Given the description of an element on the screen output the (x, y) to click on. 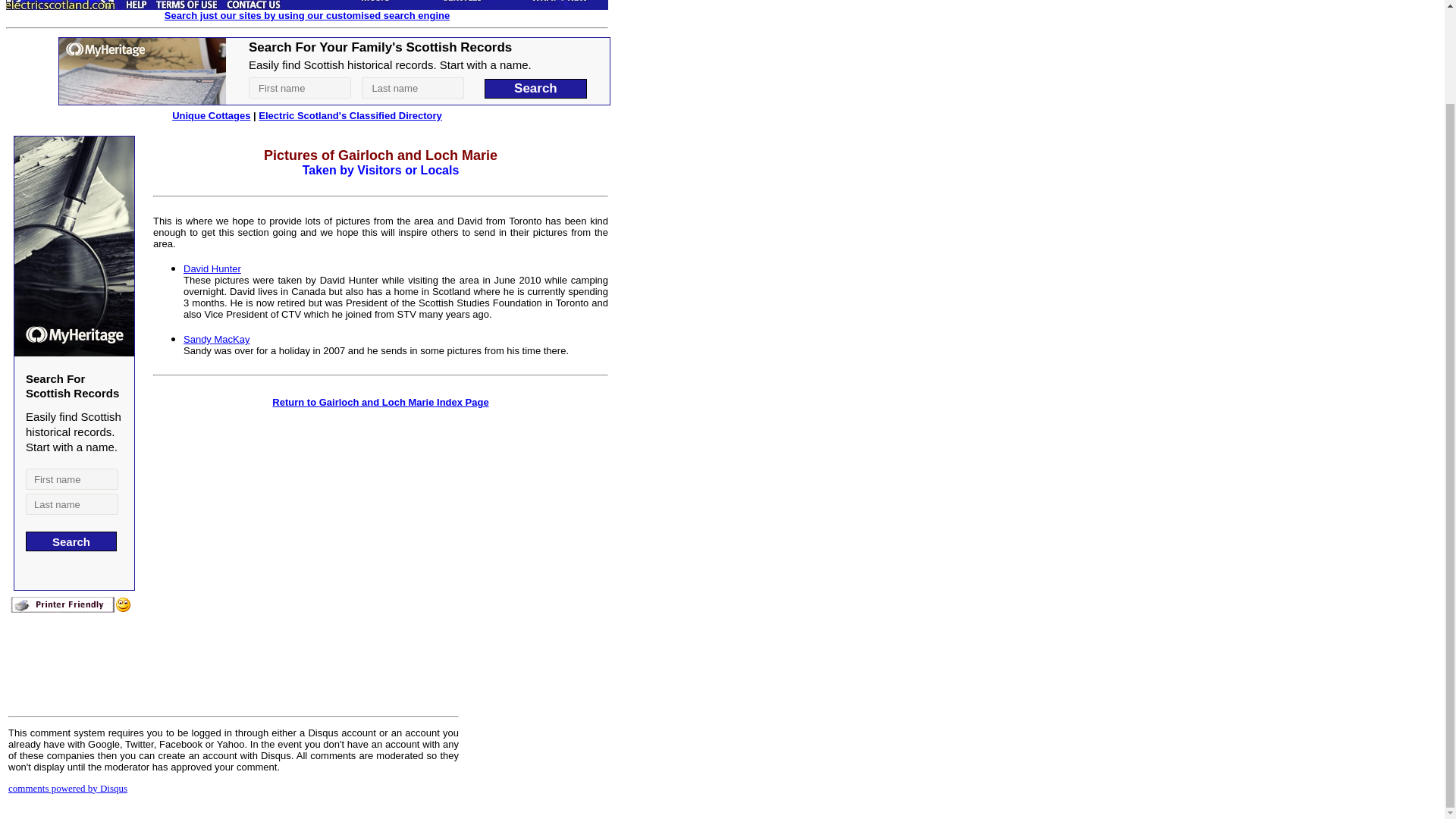
advertisement (334, 70)
David Hunter (212, 268)
Unique Cottages (210, 115)
Search just our sites by using our customised search engine (306, 15)
Sandy MacKay (215, 338)
Return to Gairloch and Loch Marie Index Page (379, 401)
comments powered by Disqus (68, 787)
Electric Scotland's Classified Directory (350, 115)
